Given the description of an element on the screen output the (x, y) to click on. 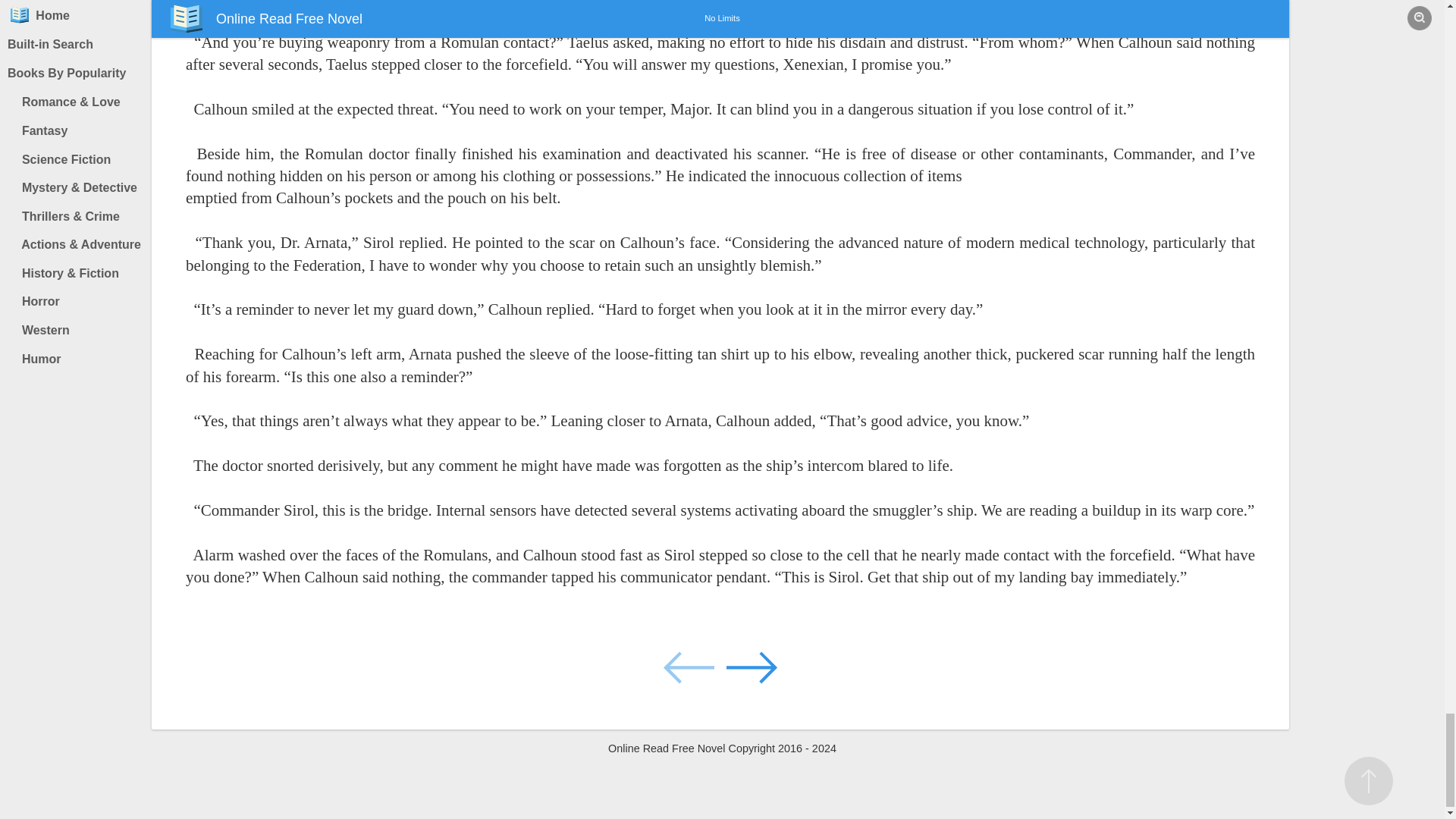
Previous Page (690, 665)
Next Page (751, 665)
